Given the description of an element on the screen output the (x, y) to click on. 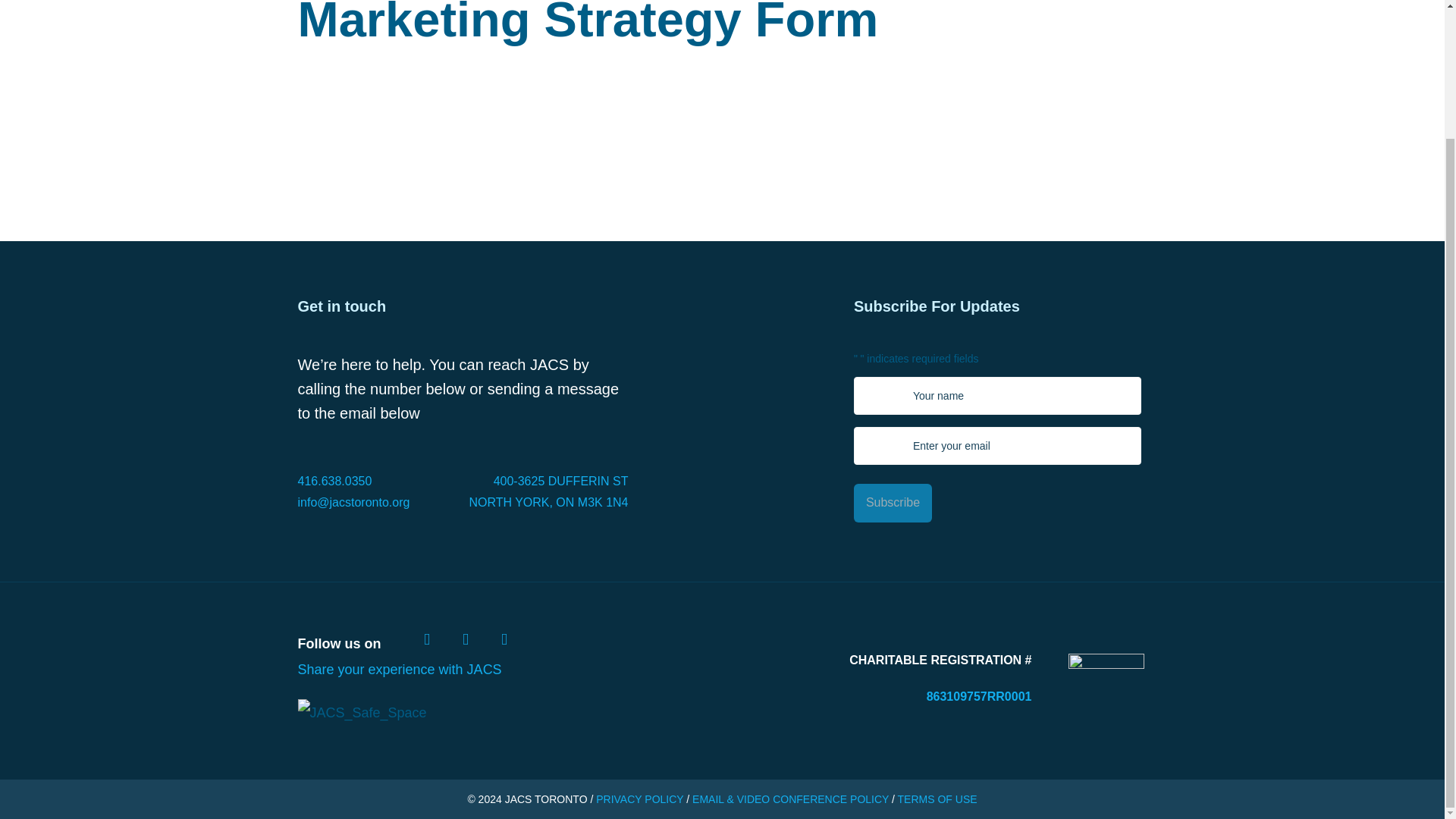
Subscribe (892, 503)
TERMS OF USE (937, 799)
Share your experience with JACS (398, 669)
416.638.0350 (380, 481)
PRIVACY POLICY (638, 799)
Subscribe (892, 503)
